Given the description of an element on the screen output the (x, y) to click on. 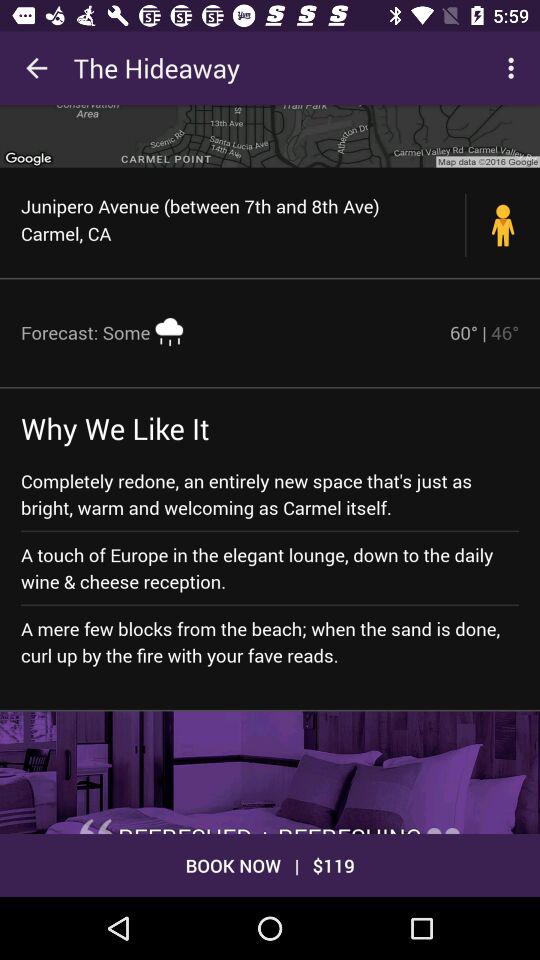
tap junipero avenue between item (243, 219)
